Given the description of an element on the screen output the (x, y) to click on. 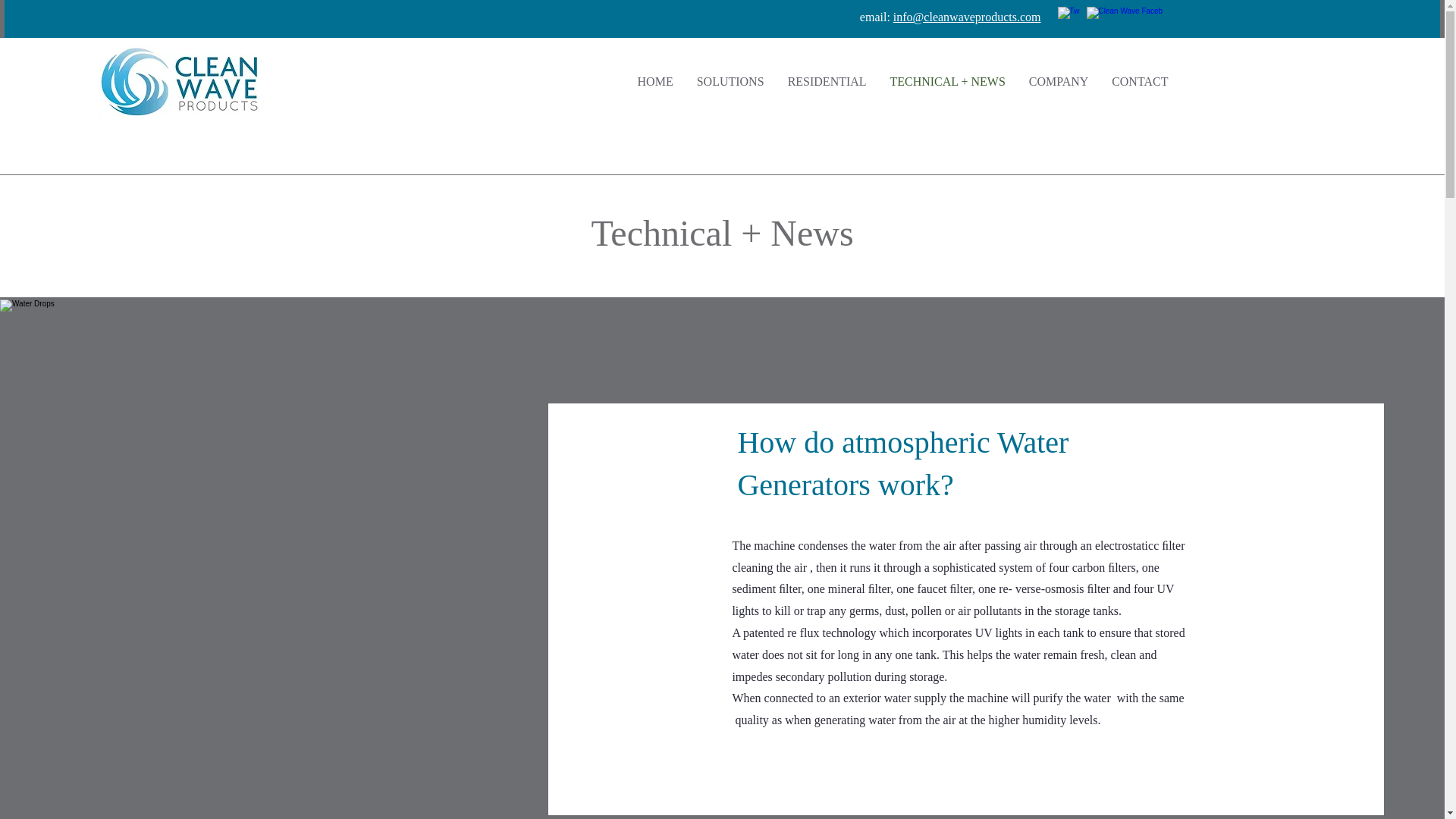
CONTACT (1139, 81)
HOME (655, 81)
COMPANY (1058, 81)
RESIDENTIAL (826, 81)
SOLUTIONS (730, 81)
